Given the description of an element on the screen output the (x, y) to click on. 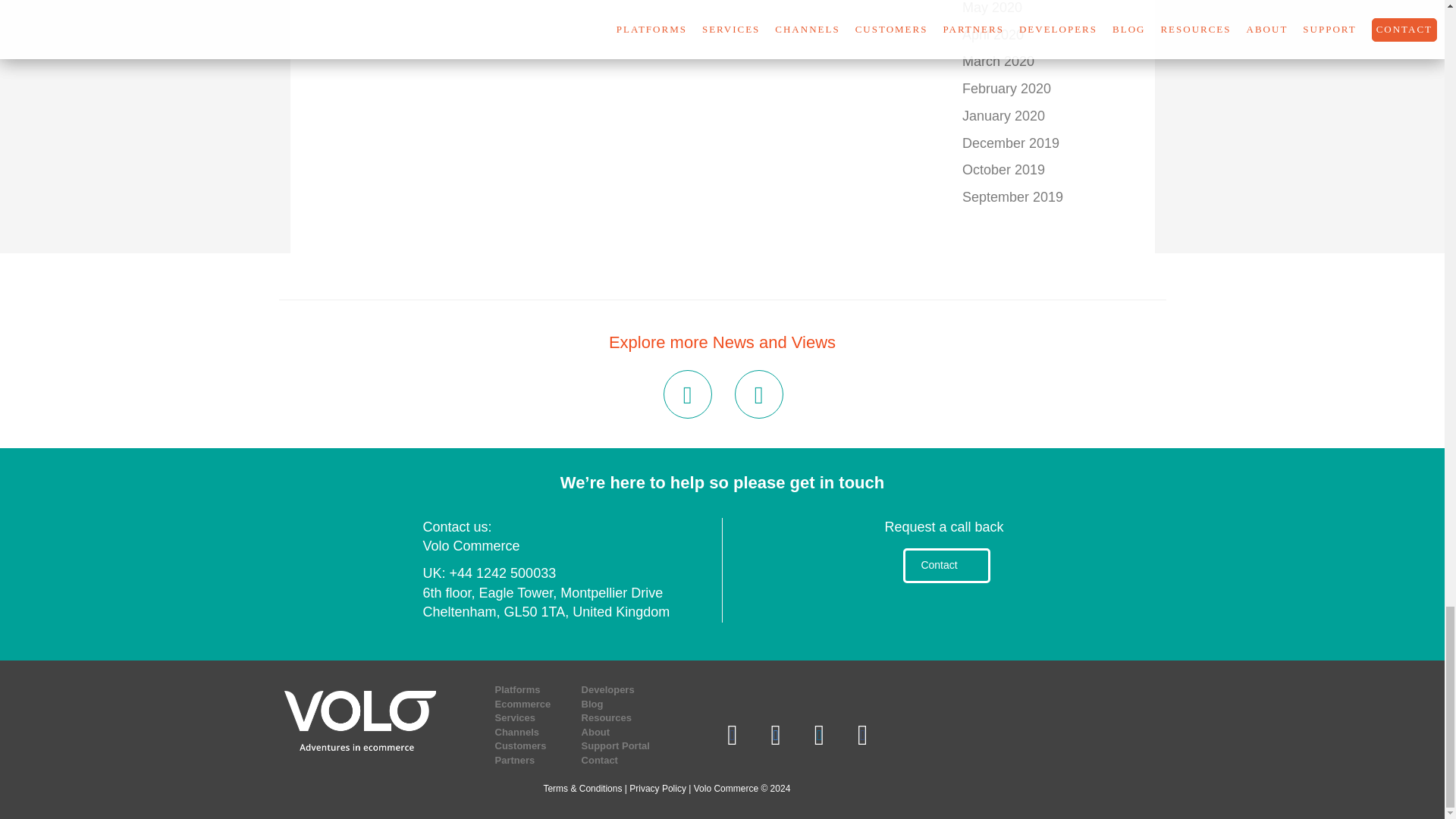
Volo Commerce Customer Hub (862, 734)
Volo Commerce on Facebook (731, 734)
Like us on LinkedIn (818, 734)
Follow Volo Commerce on Twitter (775, 734)
